Given the description of an element on the screen output the (x, y) to click on. 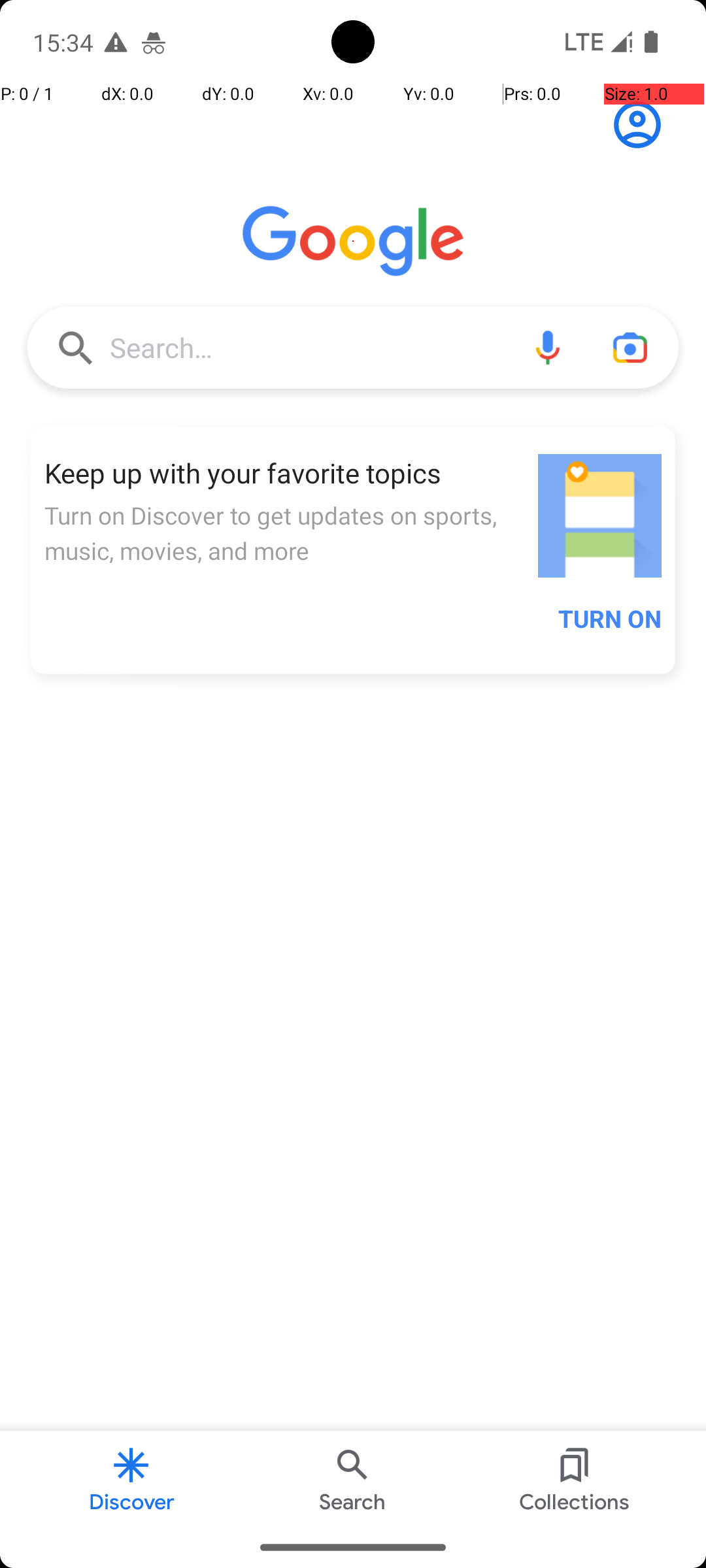
Discover Element type: android.widget.Button (130, 1478)
Collections Element type: android.widget.Button (574, 1478)
Camera search Element type: android.widget.ImageButton (629, 347)
Google logo Element type: android.widget.ImageView (353, 240)
Sign in Element type: android.widget.FrameLayout (644, 124)
Keep up with your favorite topics Element type: android.widget.TextView (284, 472)
Turn on Discover to get updates on sports, music, movies, and more Element type: android.widget.TextView (284, 532)
TURN ON Element type: android.widget.TextView (609, 618)
Voice Search Element type: android.widget.ImageView (547, 347)
